Given the description of an element on the screen output the (x, y) to click on. 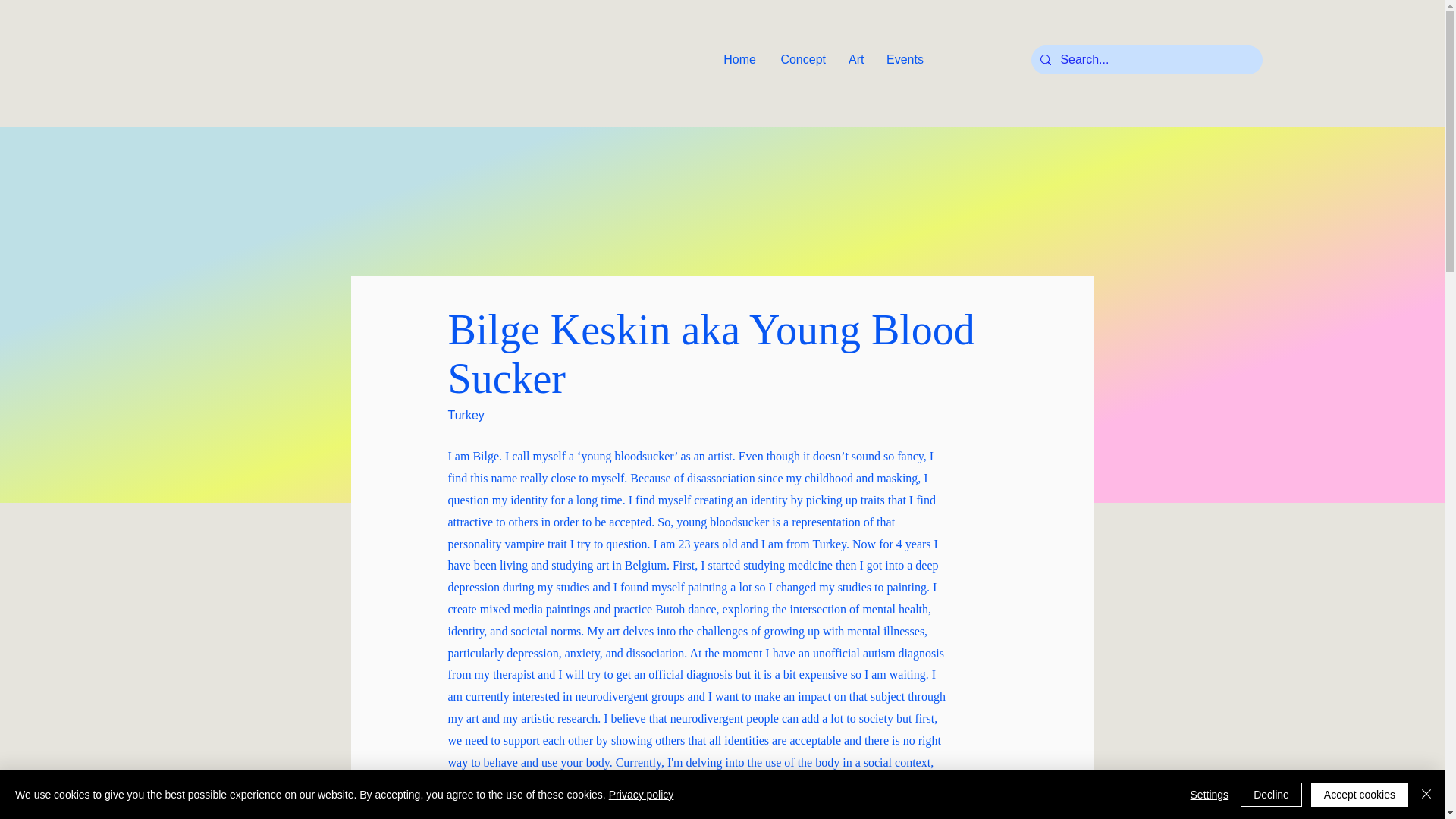
Decline (1270, 794)
Accept cookies (1359, 794)
Concept (802, 59)
Privacy policy (641, 794)
Art (856, 59)
Events (904, 59)
Home (738, 59)
